Given the description of an element on the screen output the (x, y) to click on. 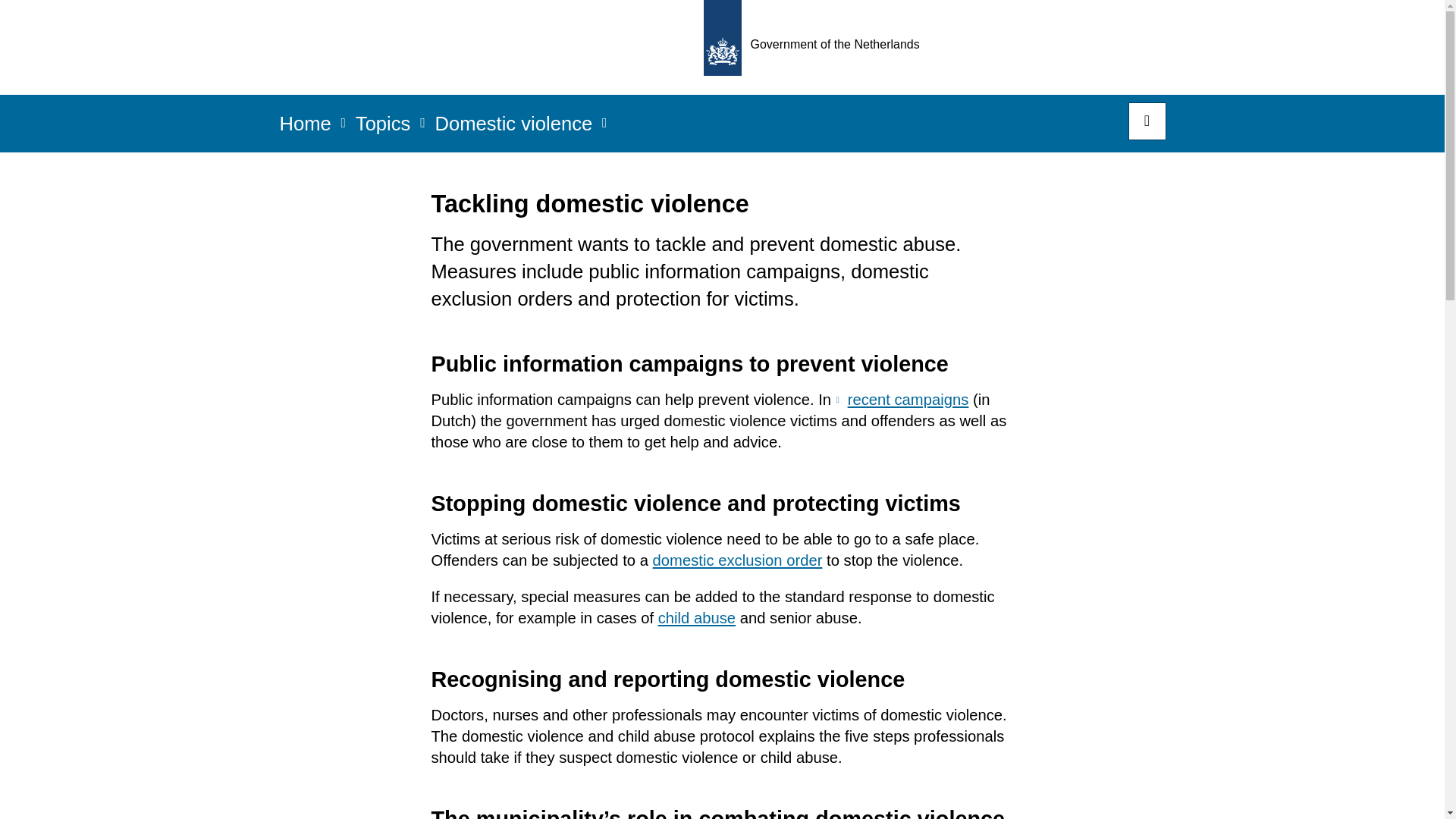
child abuse (696, 617)
Search (1146, 121)
Send (29, 21)
Start search (1146, 121)
Domestic violence (512, 128)
recent campaigns (902, 399)
Government of the Netherlands (815, 47)
domestic exclusion order (737, 560)
Topics (382, 128)
Home (304, 128)
